Given the description of an element on the screen output the (x, y) to click on. 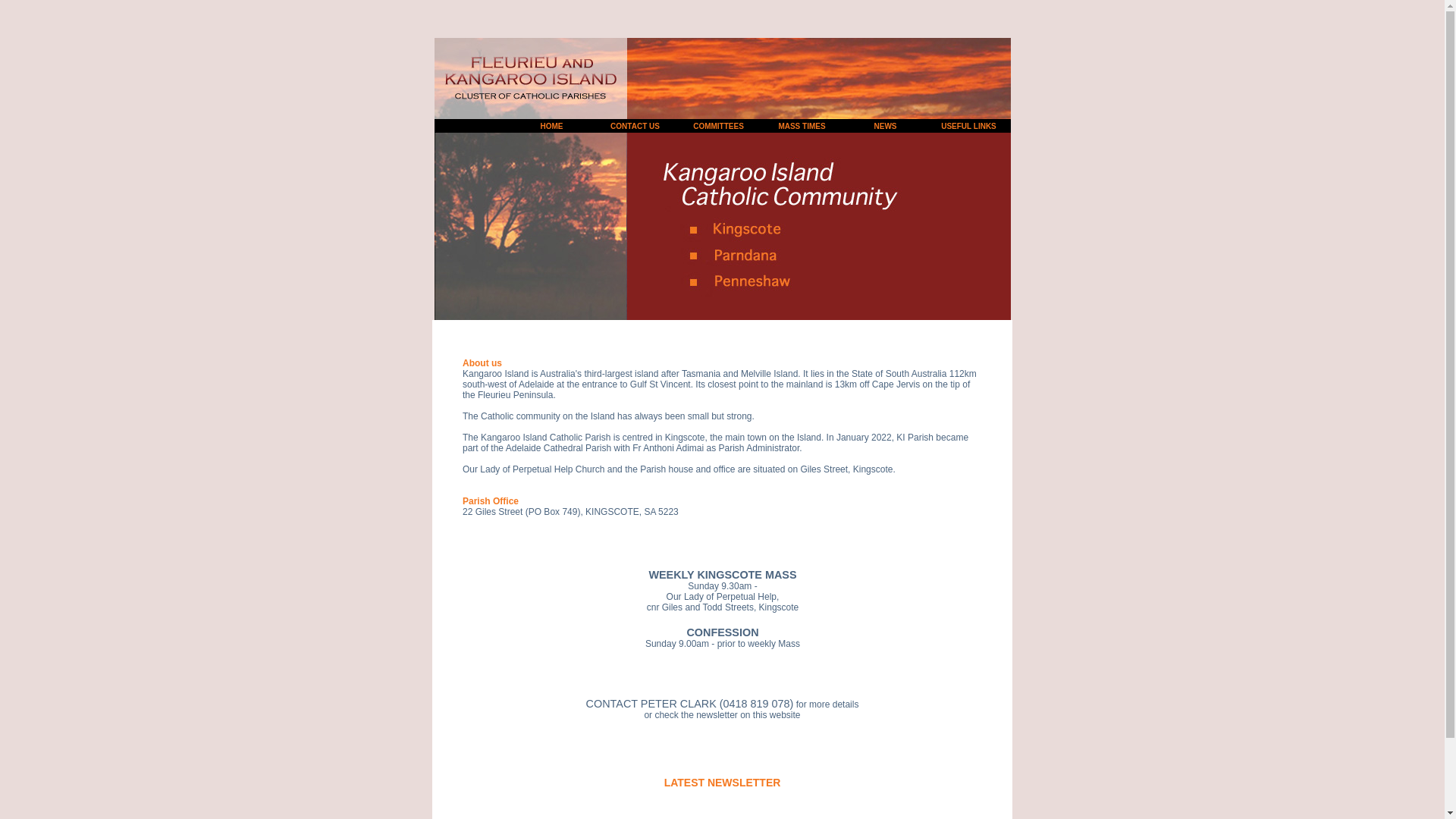
COMMITTEES Element type: text (718, 125)
MASS TIMES Element type: text (801, 125)
LATEST NEWSLETTER Element type: text (722, 782)
HOME Element type: text (550, 125)
CONTACT US Element type: text (634, 125)
NEWS Element type: text (884, 125)
USEFUL LINKS Element type: text (968, 125)
